Given the description of an element on the screen output the (x, y) to click on. 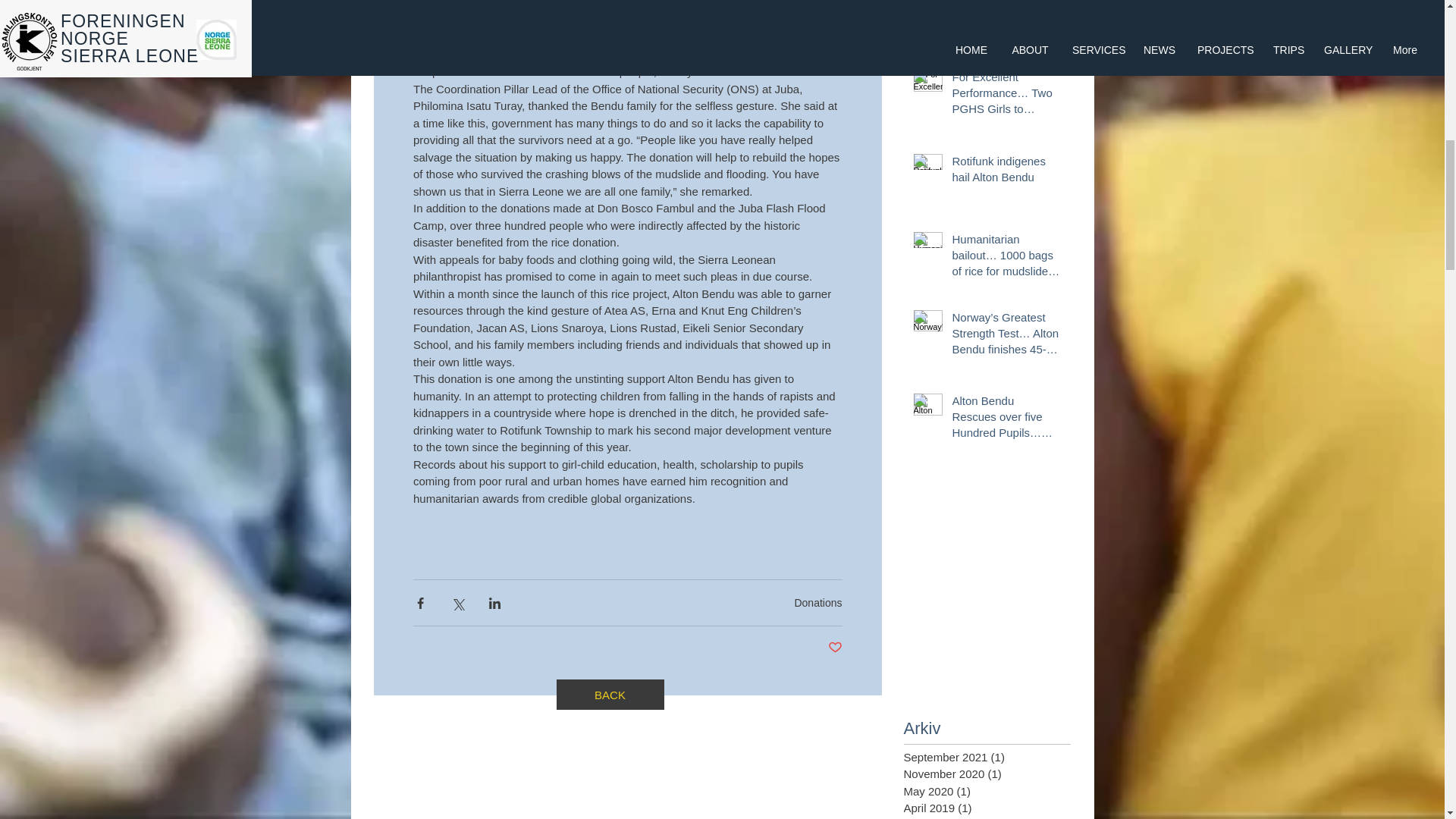
Post not marked as liked (835, 647)
Rotifunk indigenes hail Alton Bendu (1006, 171)
BACK (609, 694)
Donations (817, 603)
